Given the description of an element on the screen output the (x, y) to click on. 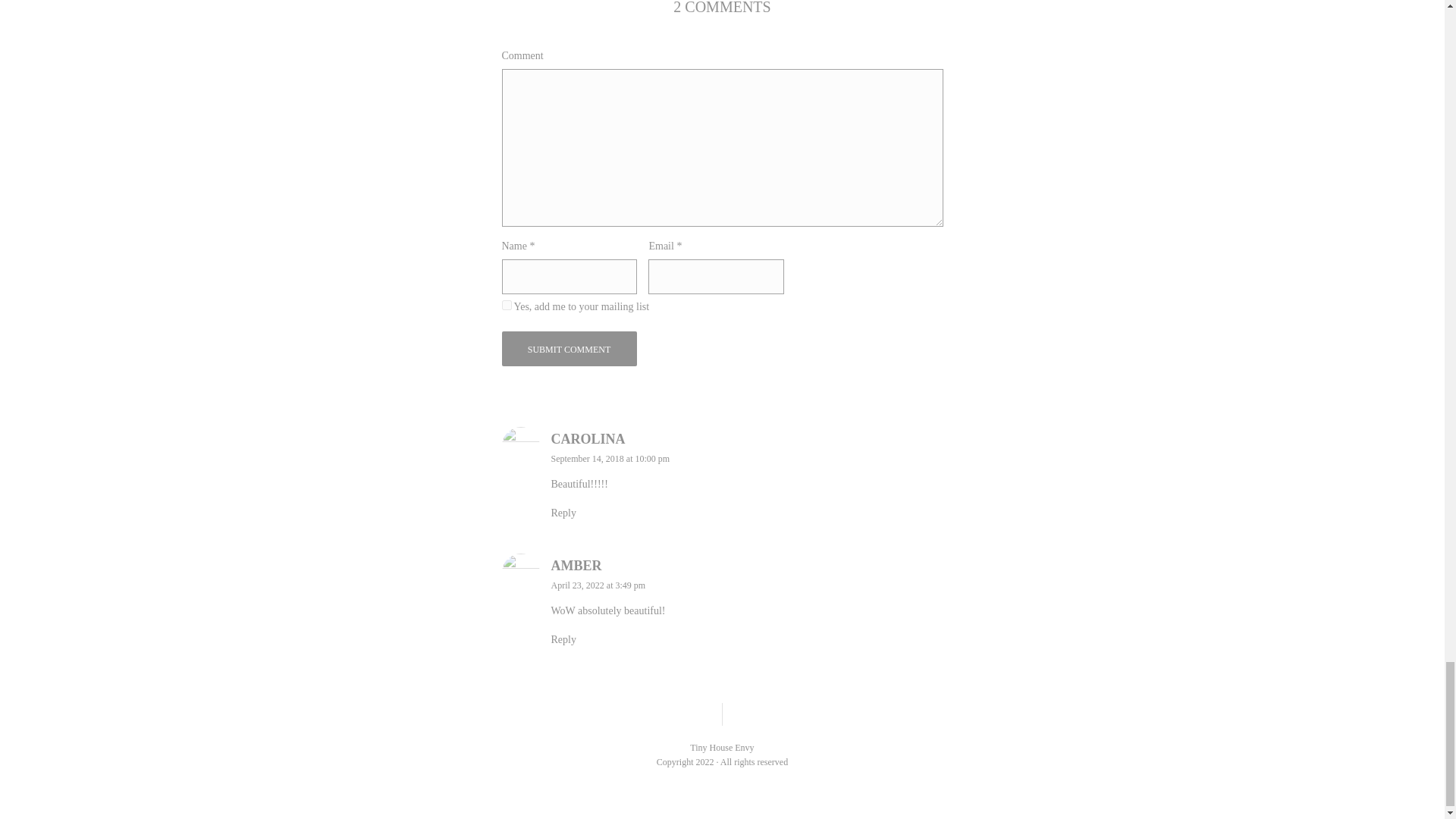
September 14, 2018 at 10:00 pm (609, 458)
April 23, 2022 at 3:49 pm (597, 584)
Reply (562, 639)
Submit Comment (569, 348)
Reply (562, 512)
Submit Comment (569, 348)
1 (507, 305)
